Given the description of an element on the screen output the (x, y) to click on. 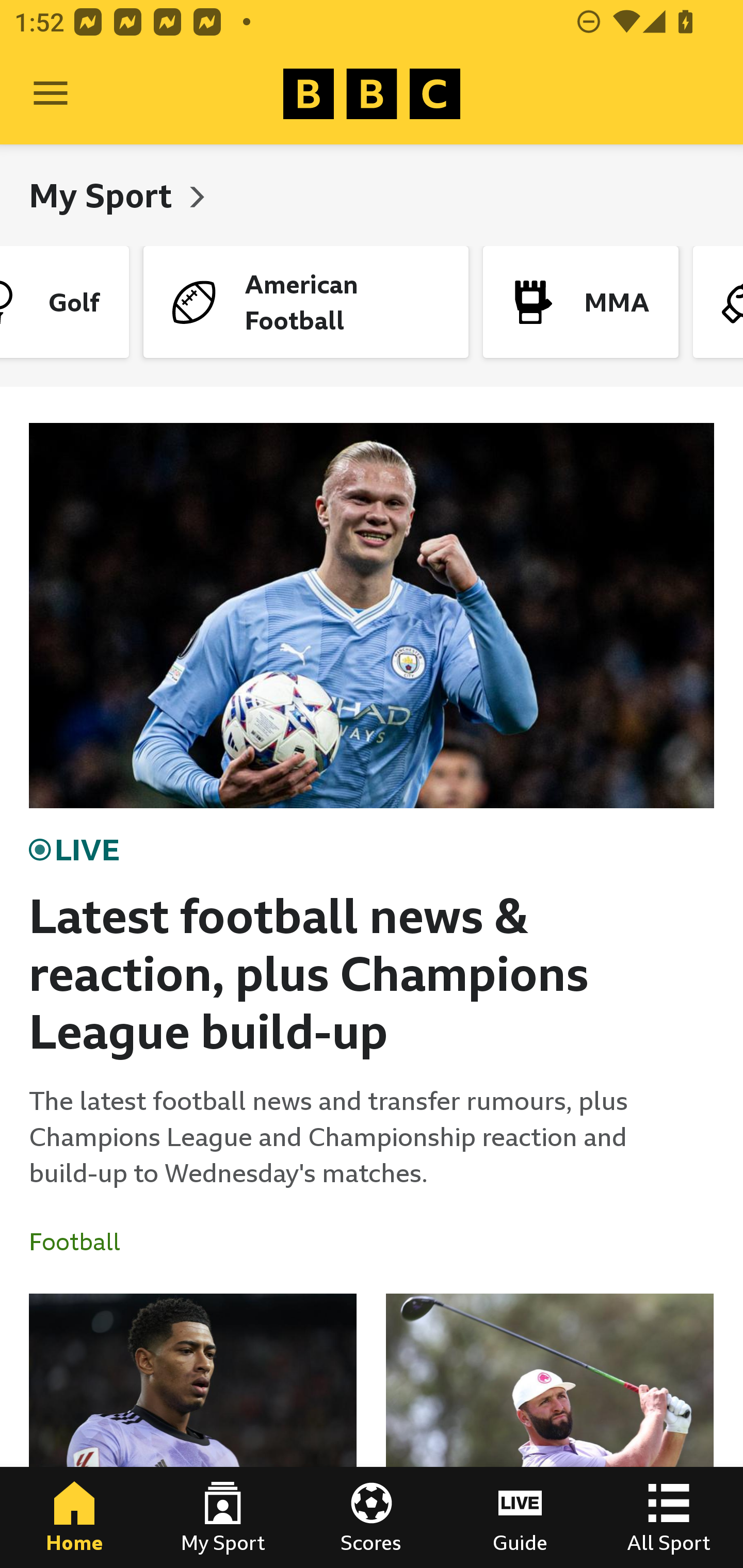
Open Menu (50, 93)
My Sport (104, 195)
Football In the section Football (81, 1241)
Real midfielder Bellingham banned for two games (192, 1430)
My Sport (222, 1517)
Scores (371, 1517)
Guide (519, 1517)
All Sport (668, 1517)
